Given the description of an element on the screen output the (x, y) to click on. 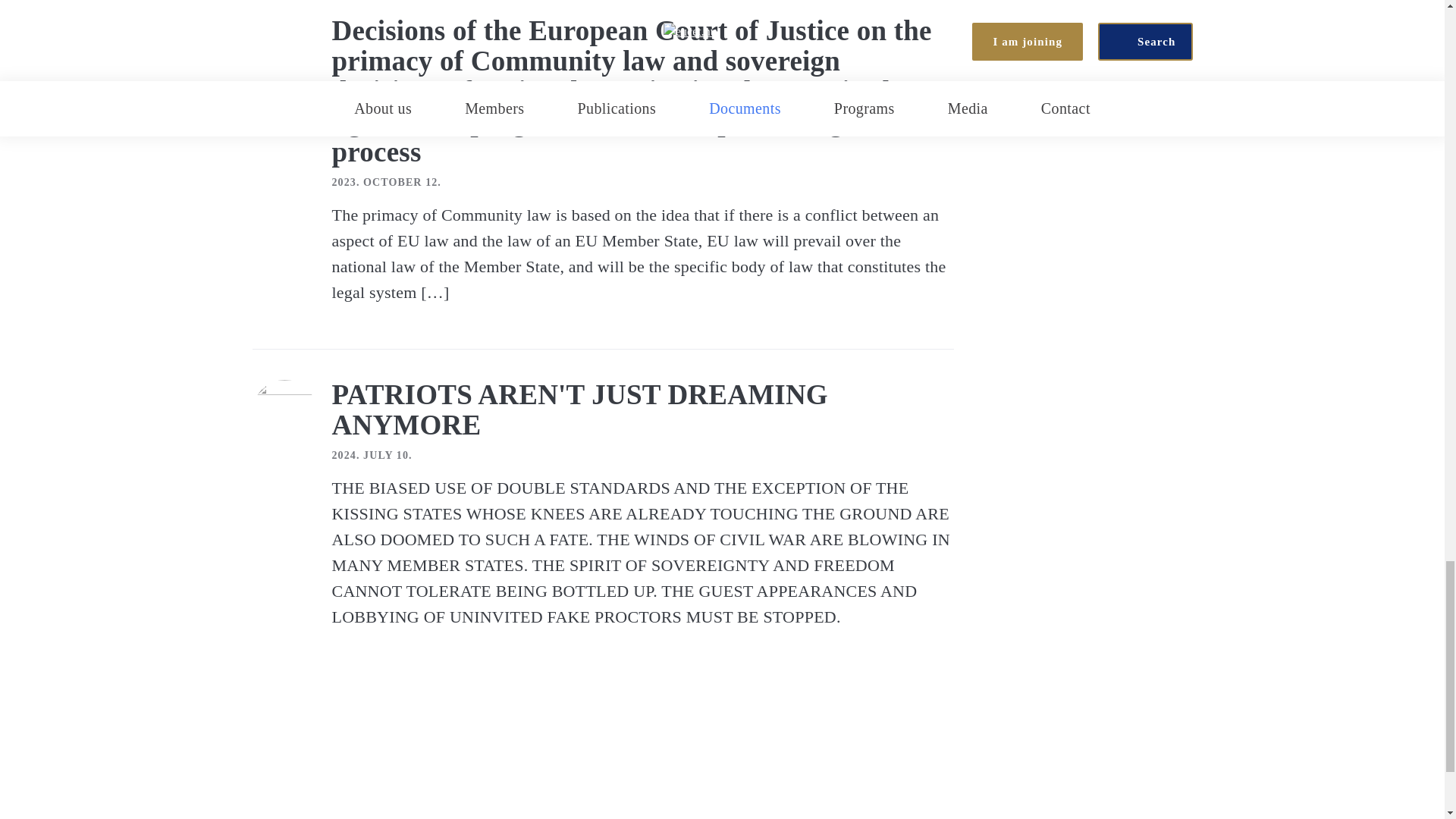
Eucet (488, 753)
PATRIOTS AREN'T JUST DREAMING ANYMORE (579, 409)
